Given the description of an element on the screen output the (x, y) to click on. 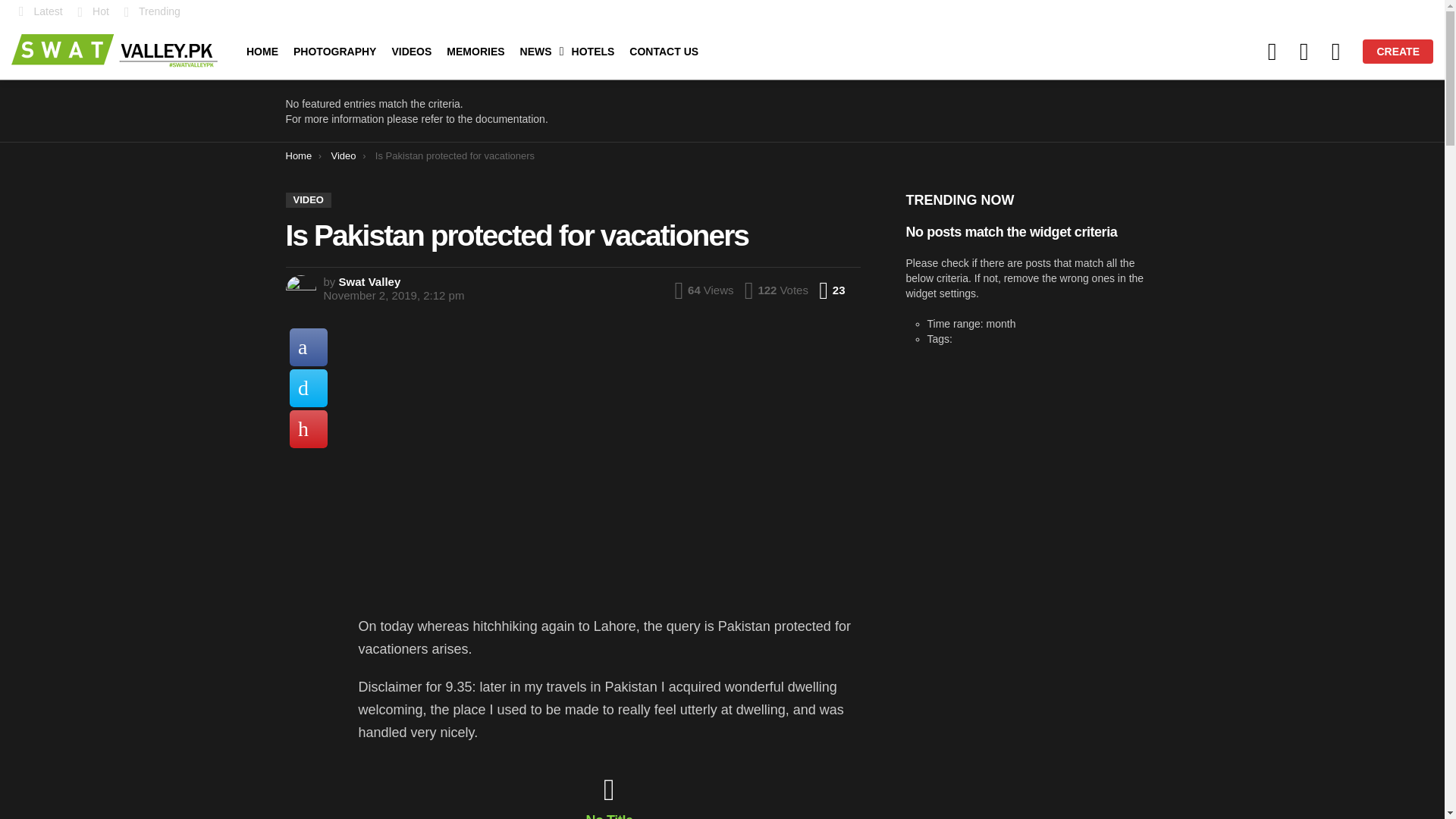
Share on Share (308, 347)
CREATE (1397, 51)
MEMORIES (475, 51)
Latest (40, 10)
Posts by Swat Valley (370, 281)
NEWS (538, 51)
CONTACT US (663, 51)
VIDEOS (411, 51)
Trending (151, 10)
Share on Pinterest (308, 428)
